Given the description of an element on the screen output the (x, y) to click on. 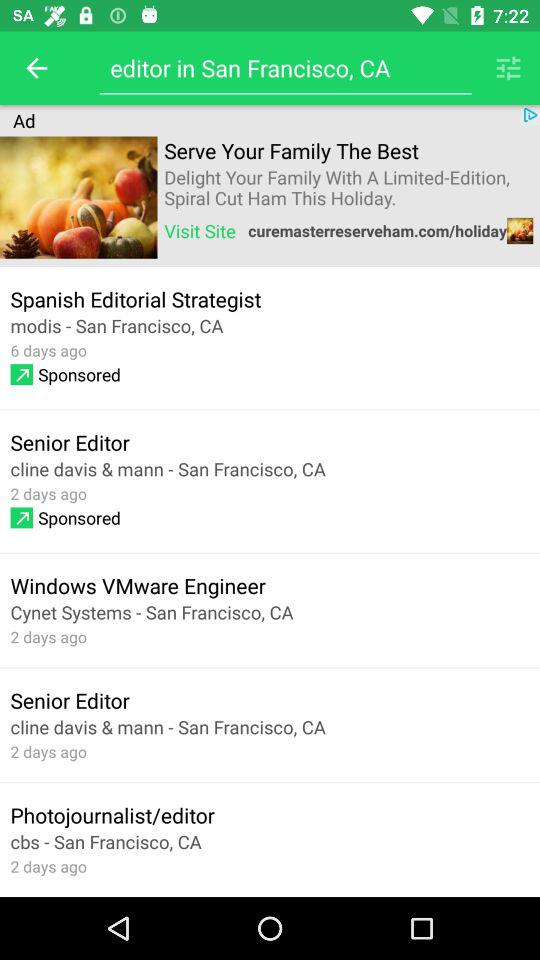
choose the visit site (199, 230)
